Given the description of an element on the screen output the (x, y) to click on. 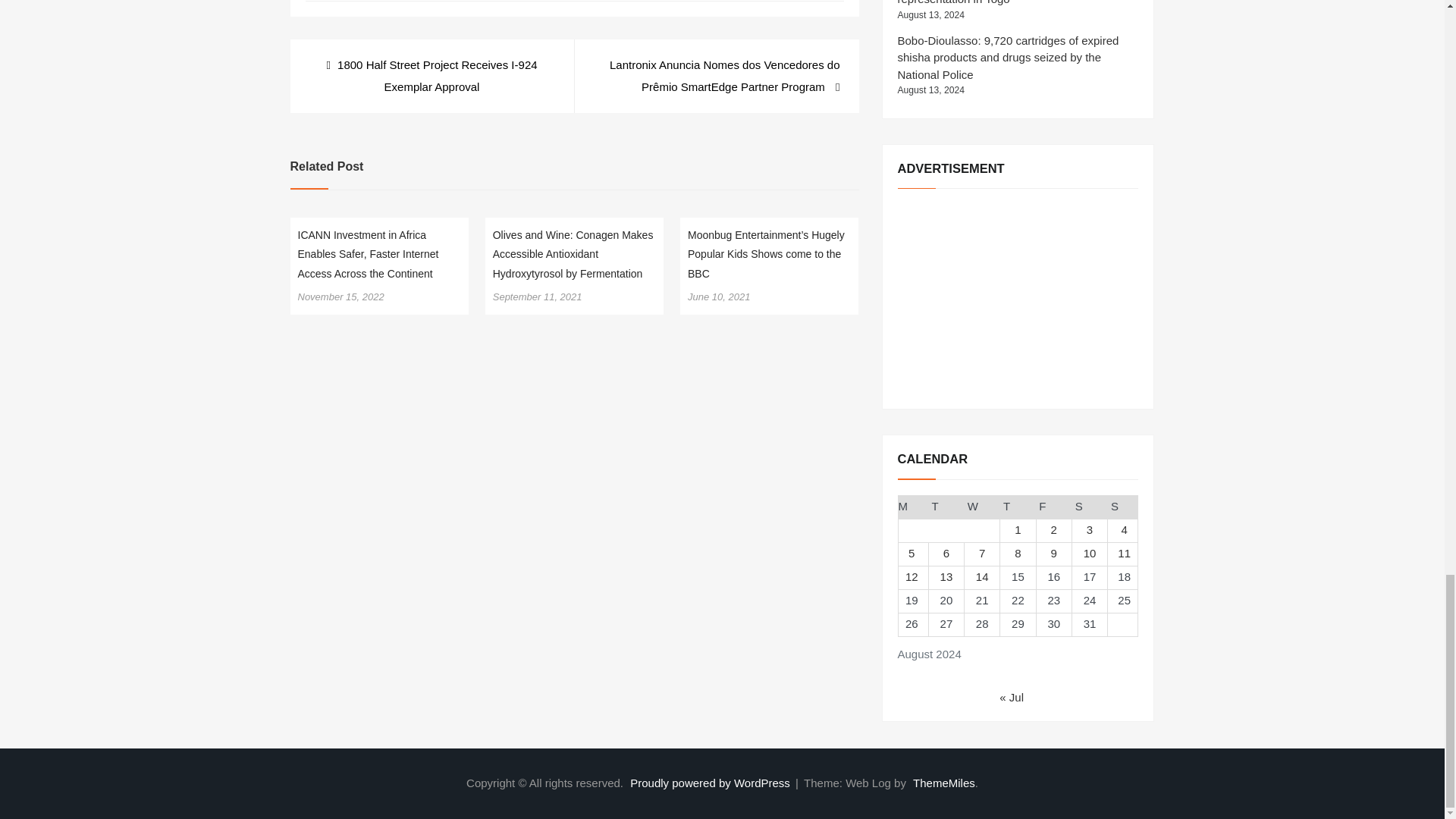
Saturday (1088, 506)
Wednesday (981, 506)
Monday (913, 506)
Friday (1053, 506)
Tuesday (945, 506)
Thursday (1017, 506)
Sunday (1123, 506)
1800 Half Street Project Receives I-924 Exemplar Approval (431, 75)
